Given the description of an element on the screen output the (x, y) to click on. 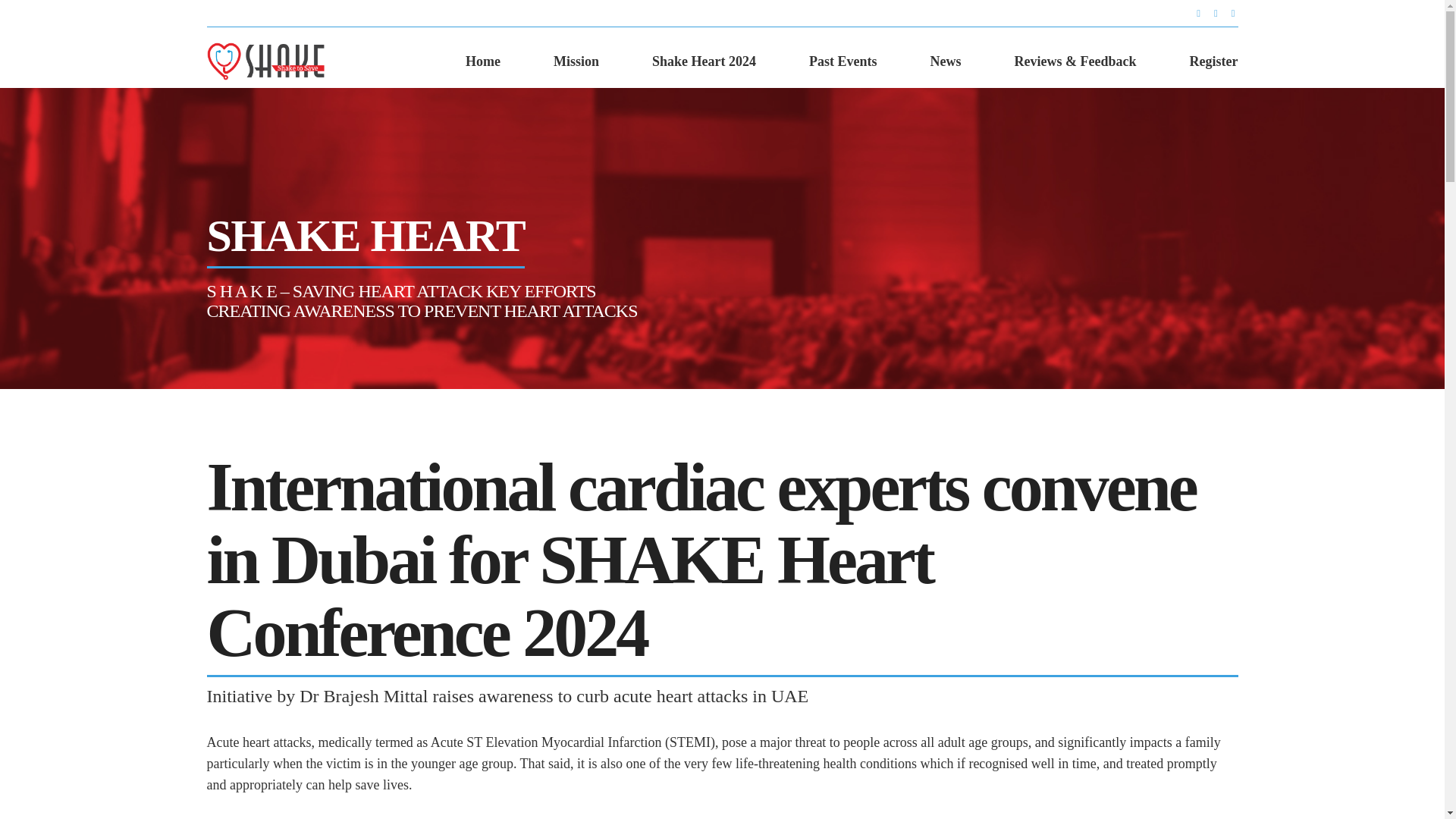
Past Events (843, 61)
Mission (575, 61)
Home (482, 61)
Shake Heart 2024 (703, 61)
Register (1214, 61)
